Given the description of an element on the screen output the (x, y) to click on. 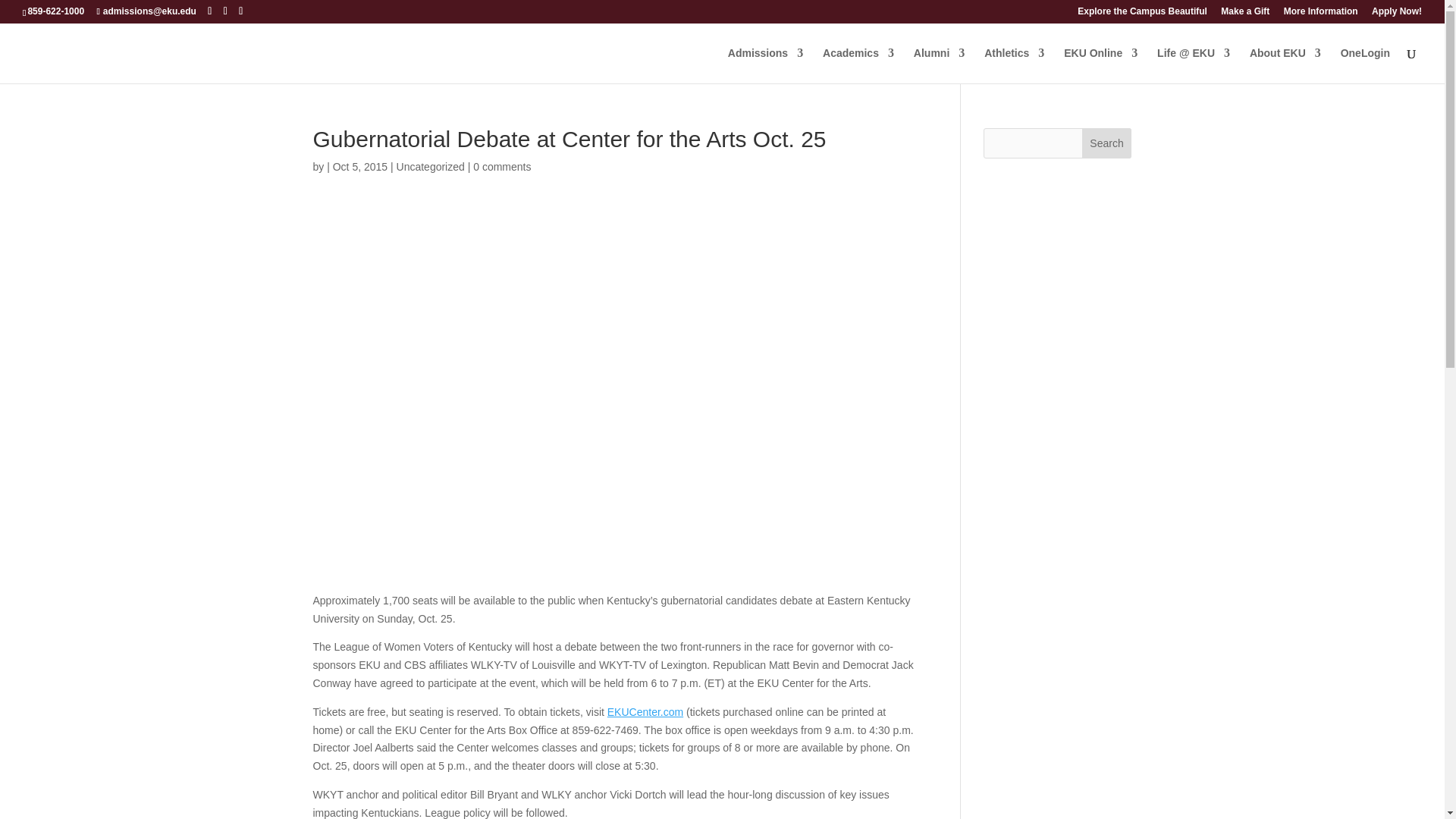
More Information (1321, 14)
Apply Now! (1396, 14)
Explore the Campus Beautiful (1142, 14)
Admissions (765, 65)
Make a Gift (1245, 14)
